Given the description of an element on the screen output the (x, y) to click on. 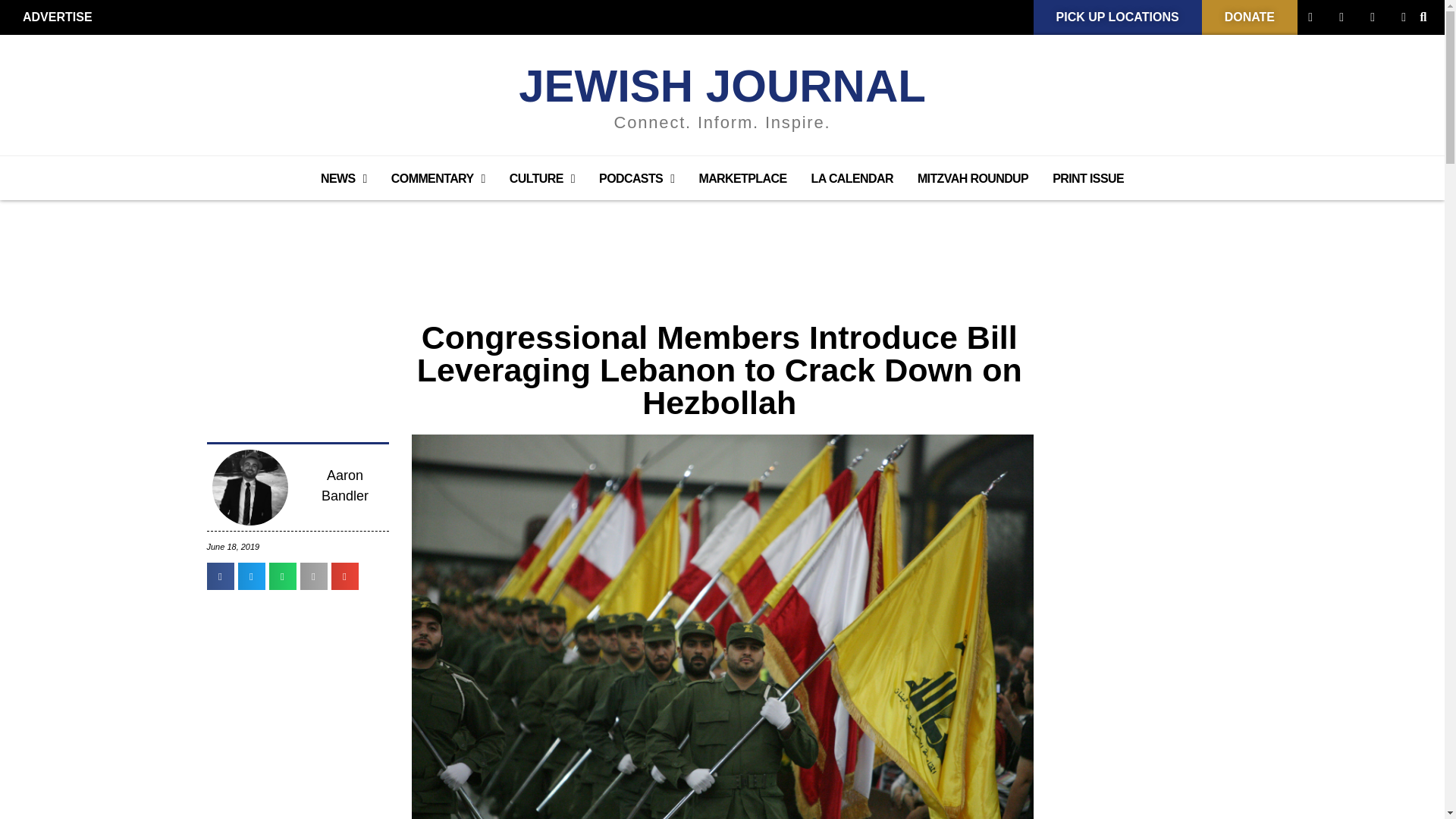
MARKETPLACE (741, 178)
PICK UP LOCATIONS (1117, 17)
NEWS (343, 178)
LA CALENDAR (852, 178)
3rd party ad content (721, 242)
ADVERTISE (57, 17)
DONATE (1249, 17)
JEWISH JOURNAL (722, 85)
COMMENTARY (437, 178)
PODCASTS (635, 178)
CULTURE (541, 178)
